Given the description of an element on the screen output the (x, y) to click on. 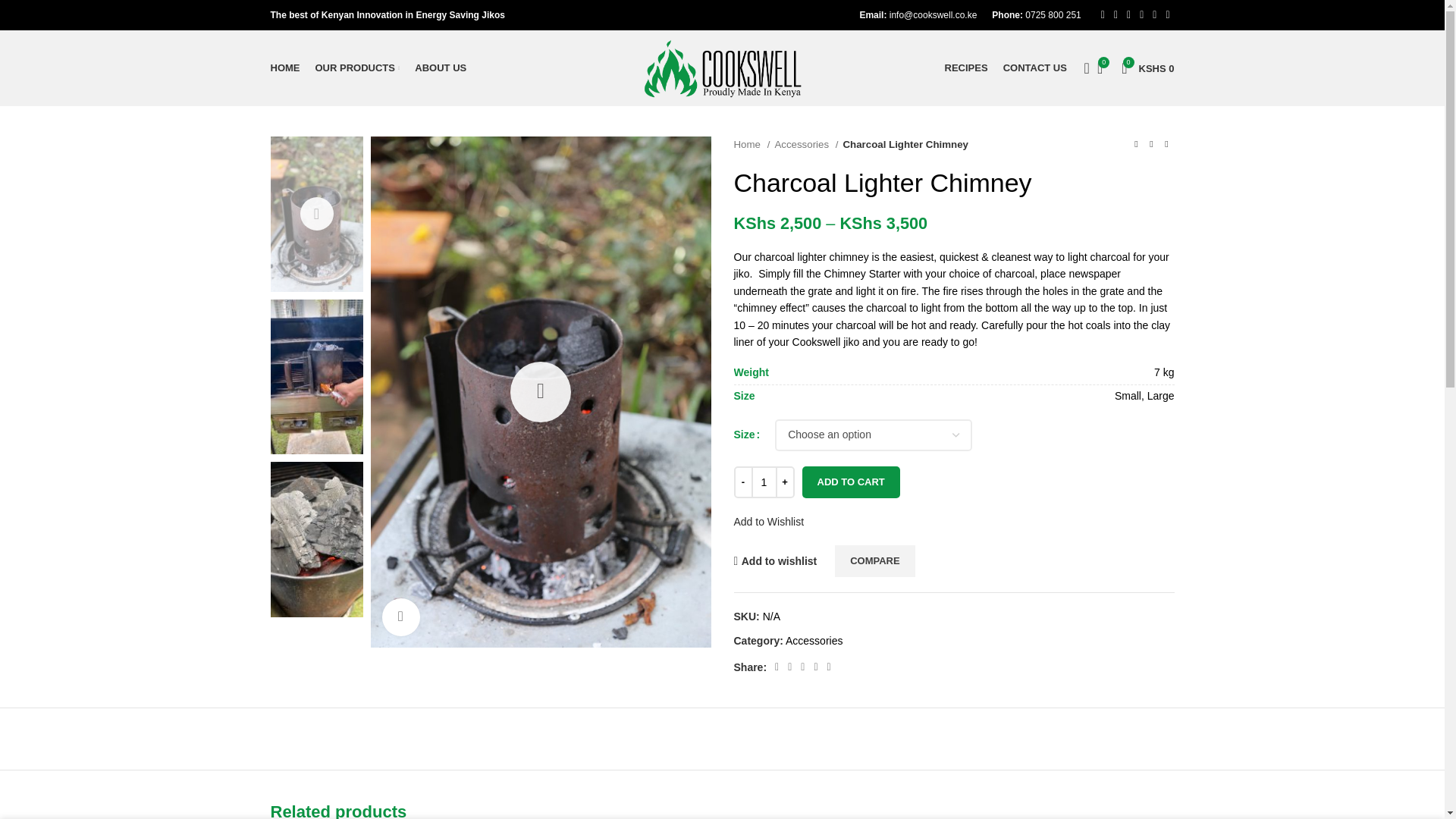
HOME (1146, 68)
ABOUT US (284, 68)
0725 800 251 (439, 68)
RECIPES (1052, 14)
CONTACT US (966, 68)
Shopping cart (1035, 68)
OUR PRODUCTS (1146, 68)
